Given the description of an element on the screen output the (x, y) to click on. 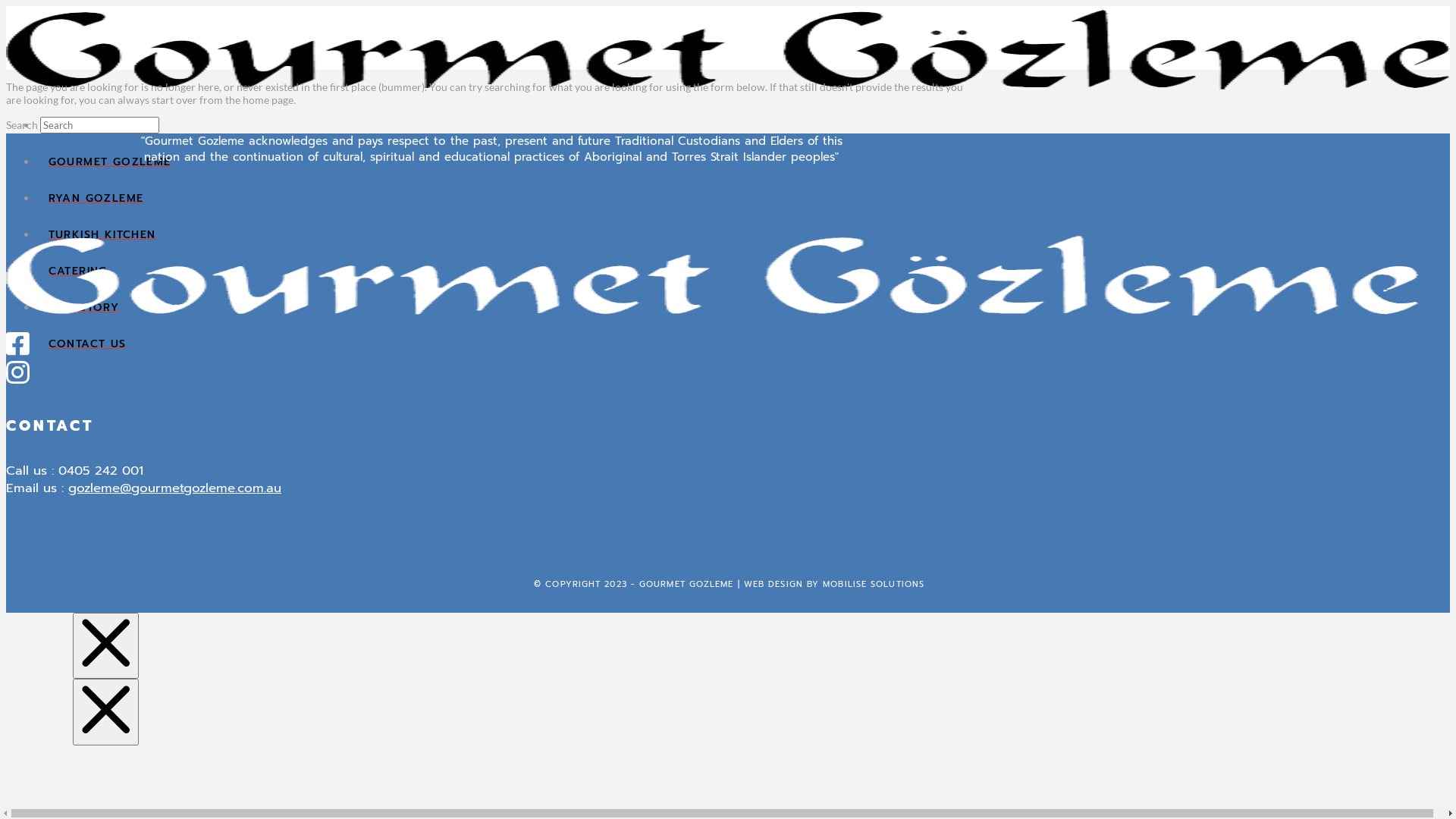
RYAN GOZLEME Element type: text (742, 196)
GOURMET GOZLEME Element type: text (742, 160)
OUR STORY Element type: text (742, 306)
TURKISH KITCHEN Element type: text (742, 233)
HOME Element type: text (742, 124)
WEB DESIGN Element type: text (773, 583)
MOBILISE SOLUTIONS Element type: text (873, 583)
gozleme@gourmetgozleme.com.au Element type: text (174, 487)
CATERING Element type: text (742, 269)
CONTACT US Element type: text (742, 342)
